Given the description of an element on the screen output the (x, y) to click on. 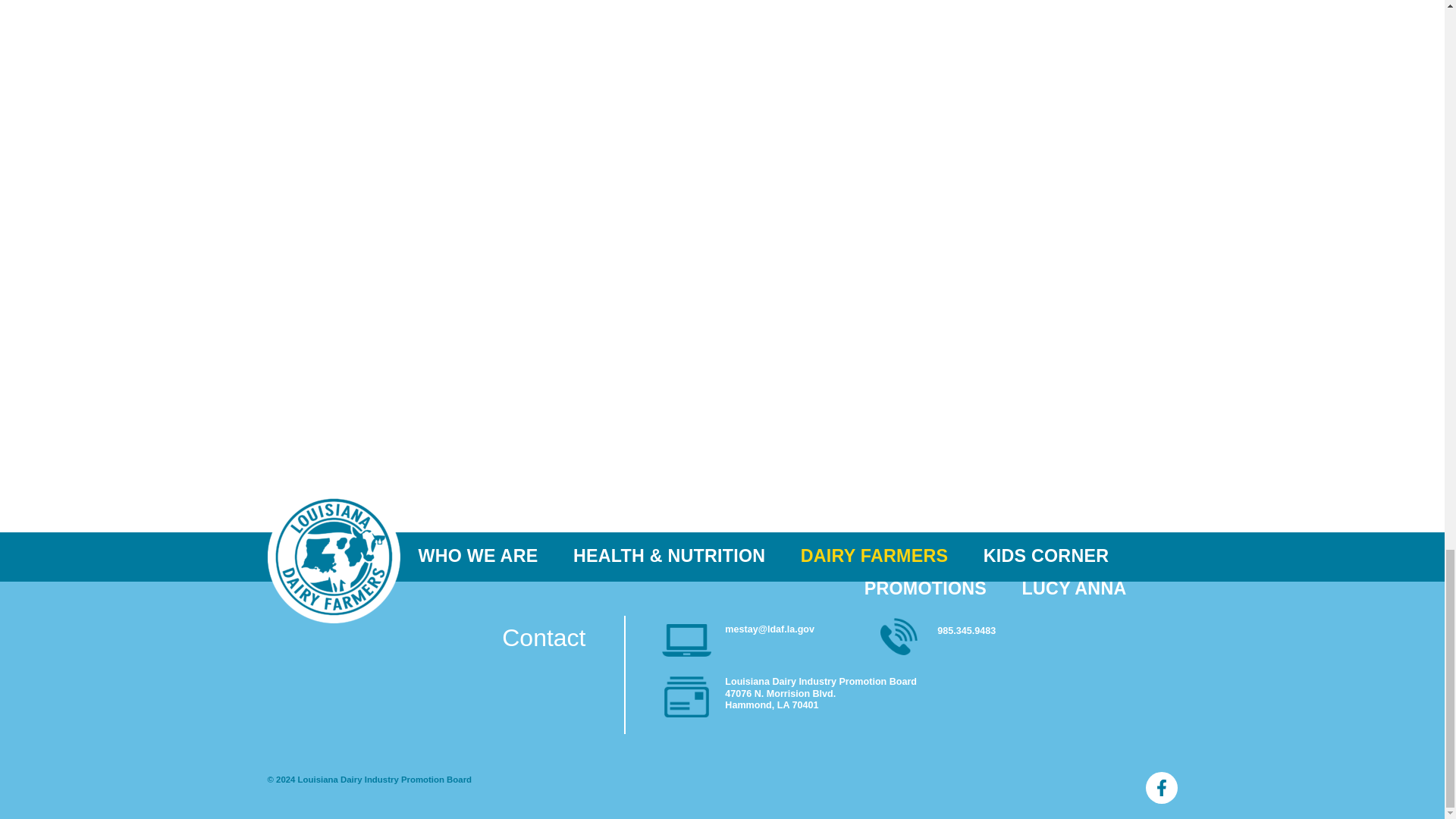
KIDS CORNER (1045, 555)
LUCY ANNA (1064, 588)
DAIRY FARMERS (874, 555)
WHO WE ARE (487, 555)
PROMOTIONS (924, 588)
